Given the description of an element on the screen output the (x, y) to click on. 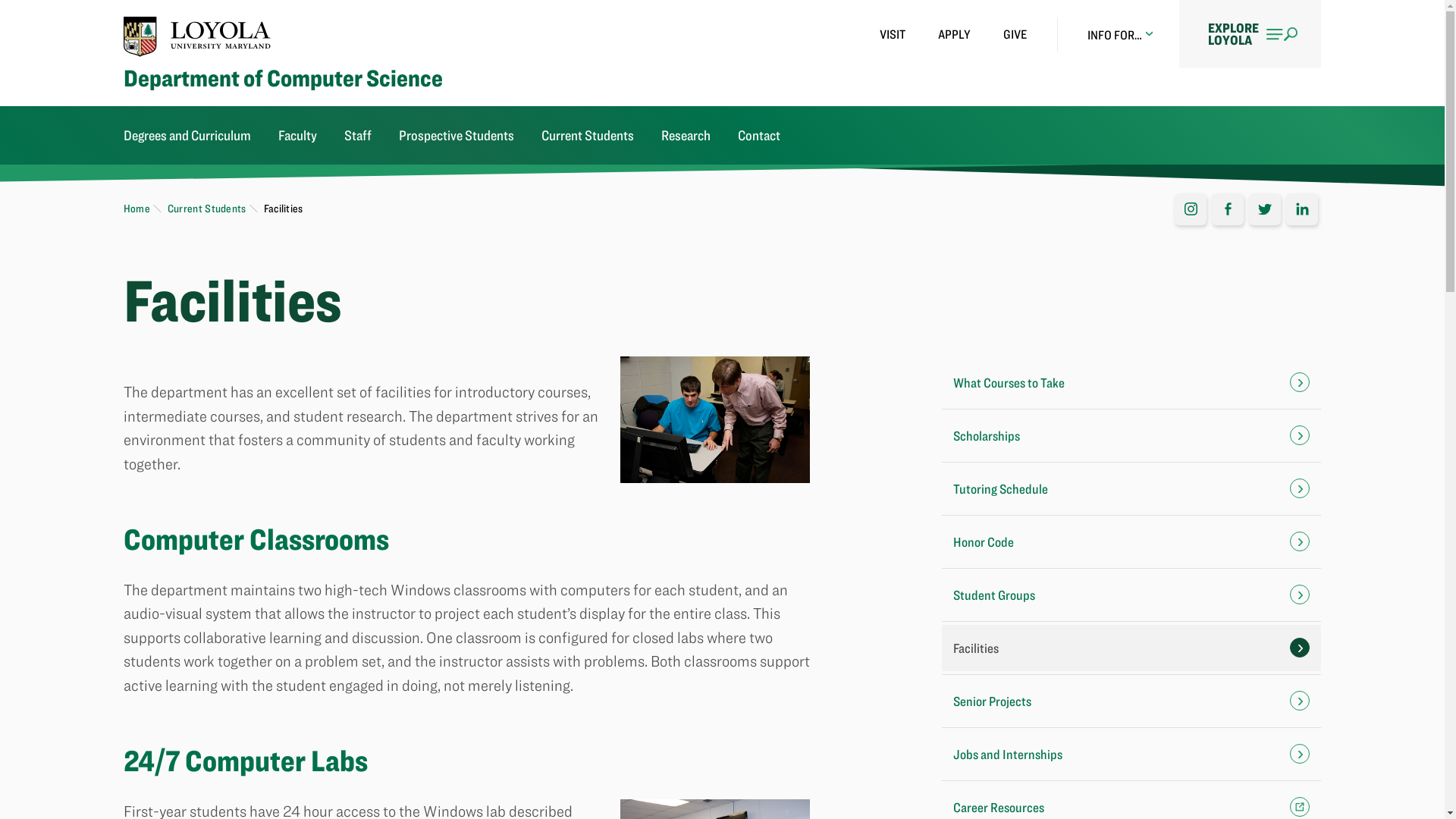
VISIT (892, 34)
EXPLORE LOYOLA (1249, 33)
GIVE (1015, 34)
APPLY (954, 34)
Logo (196, 35)
